Given the description of an element on the screen output the (x, y) to click on. 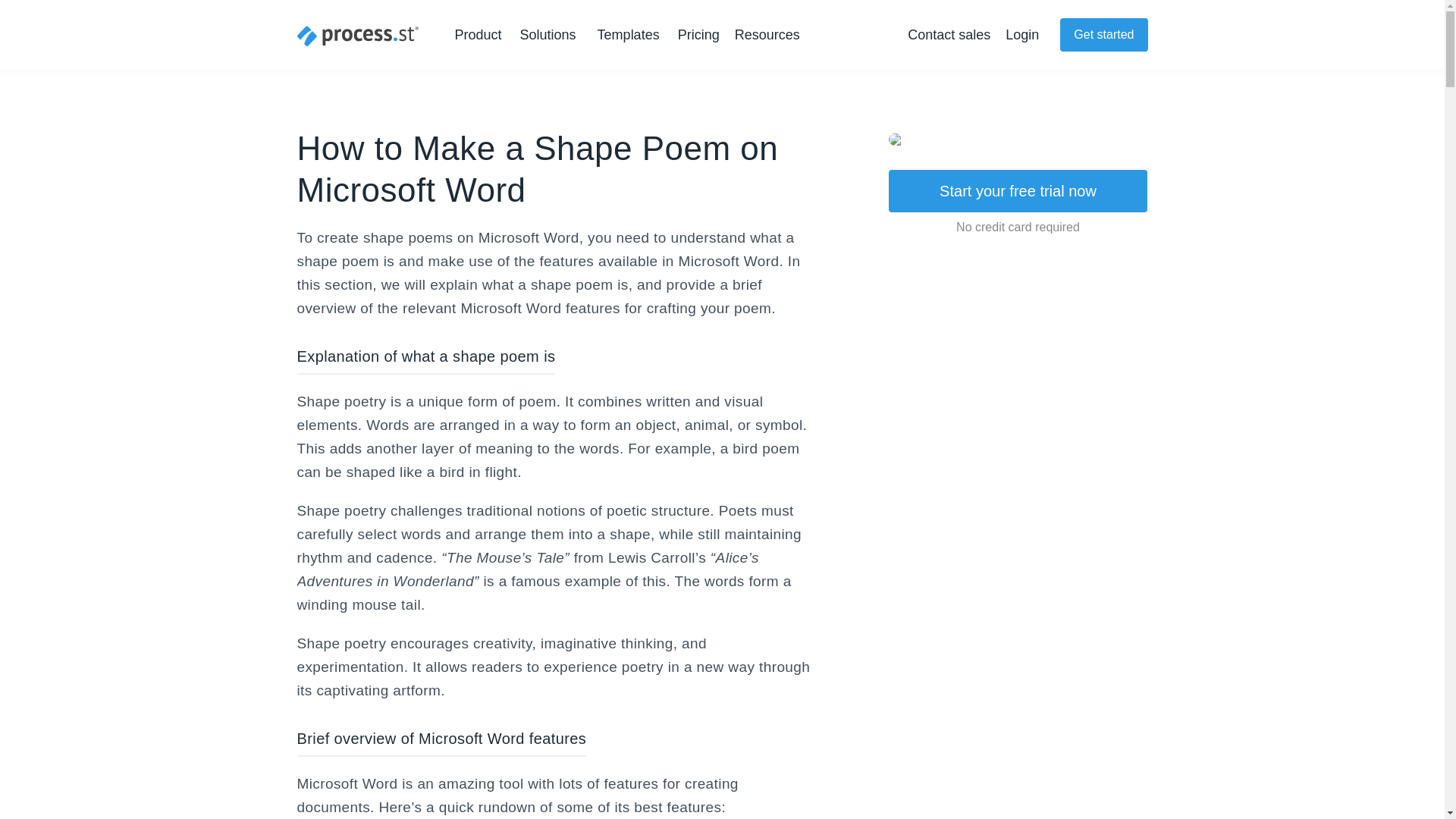
Process Street (358, 35)
Get started (1103, 34)
Resources (770, 34)
Contact sales (948, 34)
Pricing (698, 34)
Login (1022, 34)
Solutions (550, 34)
Templates (627, 34)
Product (481, 34)
